Given the description of an element on the screen output the (x, y) to click on. 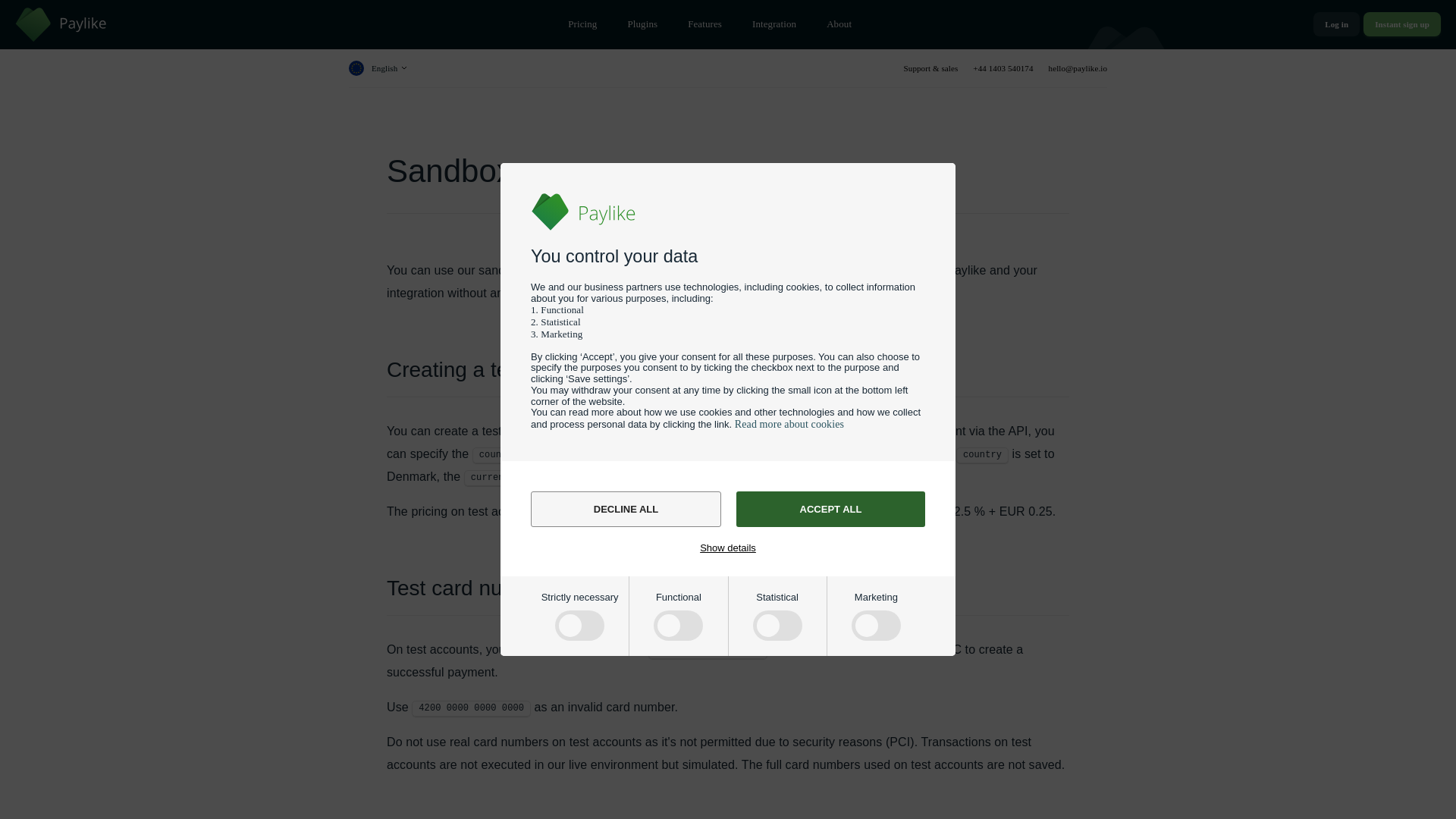
DECLINE ALL (625, 509)
ACCEPT ALL (830, 509)
Show details (727, 546)
Read more about cookies (789, 423)
